Given the description of an element on the screen output the (x, y) to click on. 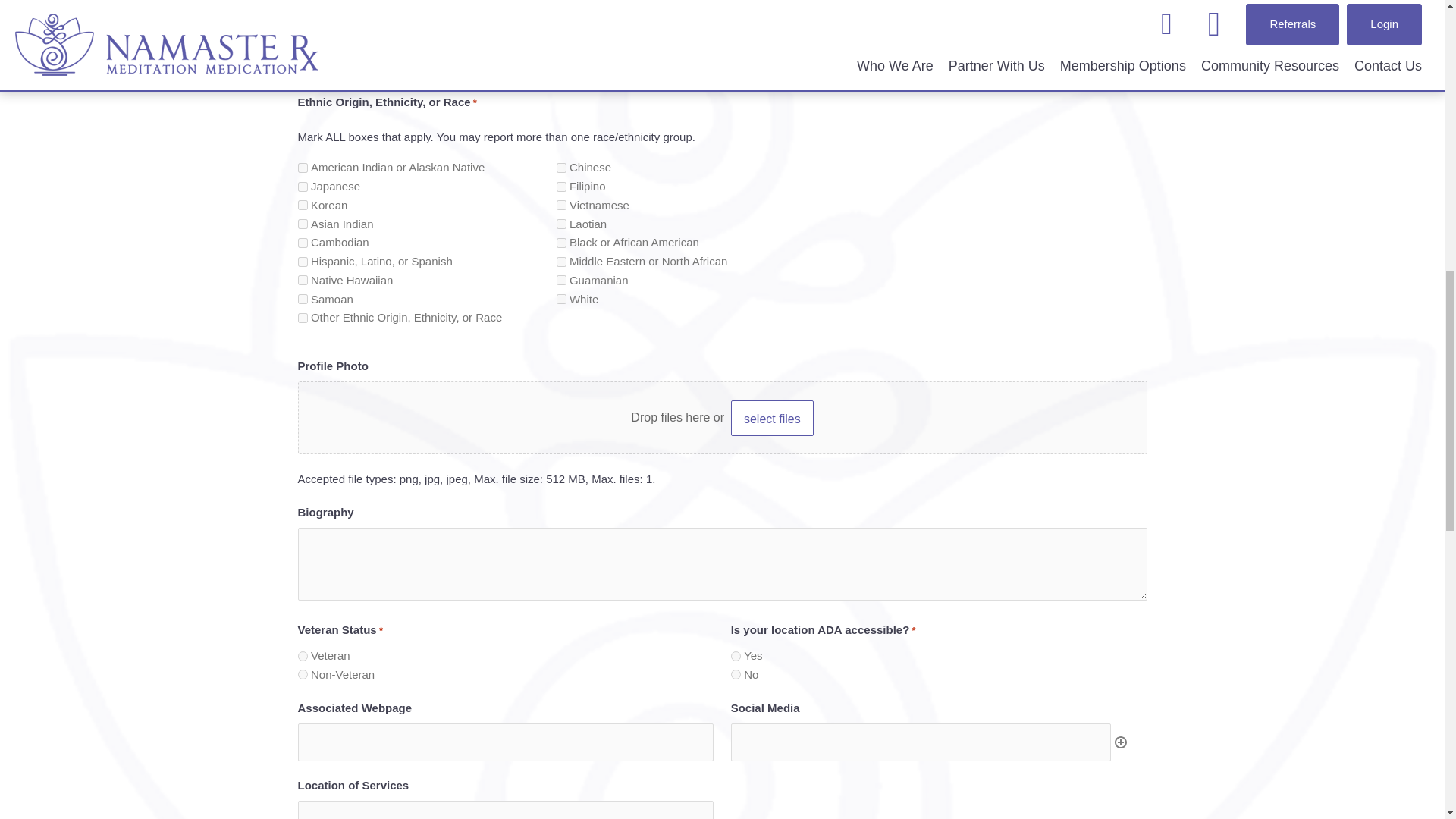
Japanese (302, 186)
Vietnamese (561, 204)
Hispanic, Latino, or Spanish (302, 261)
Black or African American (561, 243)
Korean (302, 204)
Filipino (561, 186)
Chinese (561, 167)
Cambodian (302, 243)
Laotian (561, 224)
American Indian or Alaskan Native (302, 167)
Middle Eastern or North African (561, 261)
Asian Indian (302, 224)
